Given the description of an element on the screen output the (x, y) to click on. 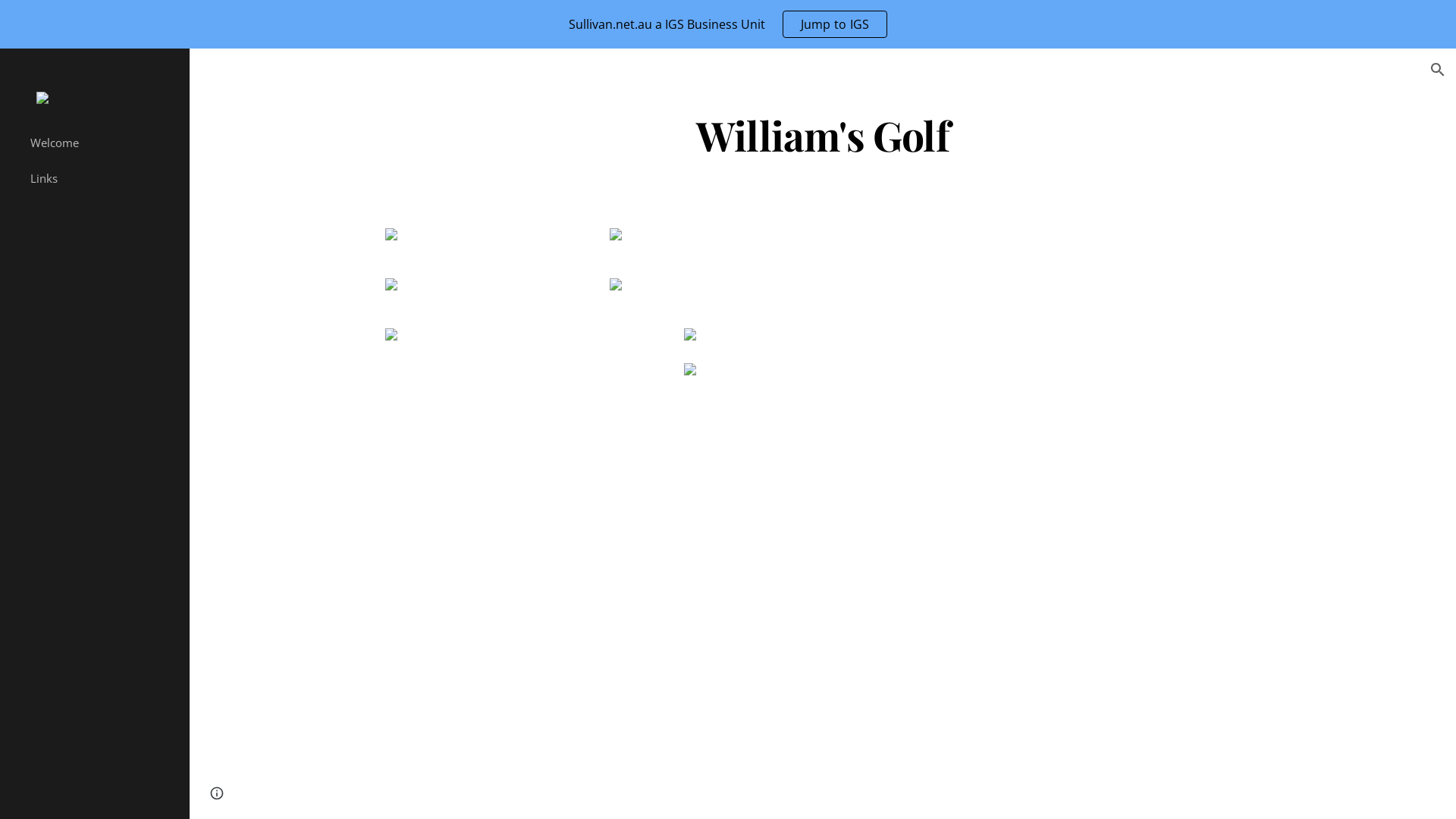
Welcome Element type: text (103, 142)
Jump to IGS Element type: text (835, 24)
Links Element type: text (103, 178)
